Given the description of an element on the screen output the (x, y) to click on. 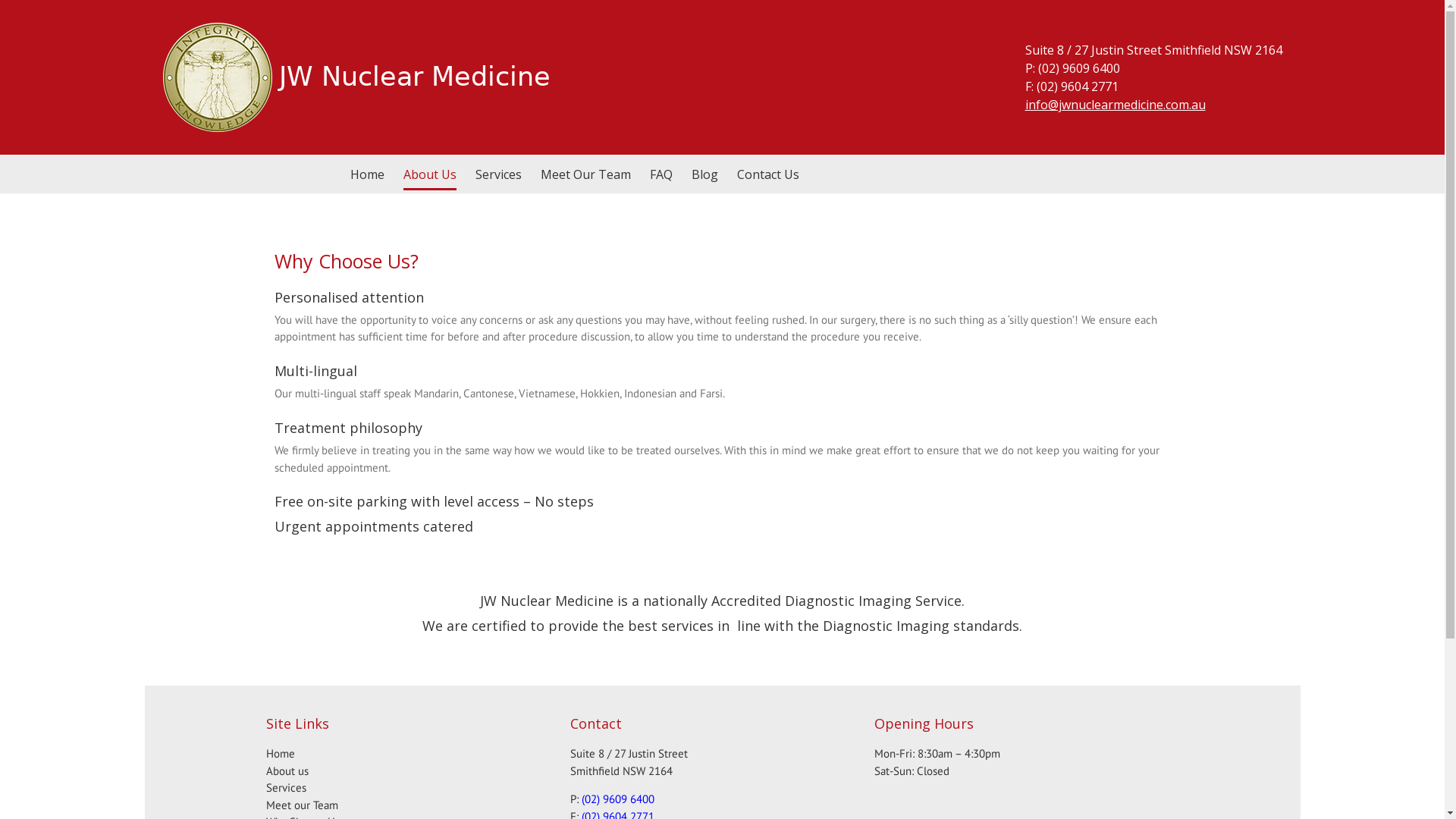
F: (02) 9604 2771 Element type: text (1071, 86)
Meet Our Team Element type: text (585, 174)
About us Element type: text (287, 770)
info@jwnuclearmedicine.com.au Element type: text (1115, 104)
Home Element type: text (367, 174)
Contact Us Element type: text (768, 174)
Home Element type: text (280, 753)
Services Element type: text (286, 787)
Meet our Team Element type: text (302, 804)
Services Element type: text (498, 174)
Blog Element type: text (704, 174)
P: (02) 9609 6400 Element type: text (1072, 67)
FAQ Element type: text (660, 174)
(02) 9609 6400 Element type: text (617, 798)
About Us Element type: text (429, 174)
